Given the description of an element on the screen output the (x, y) to click on. 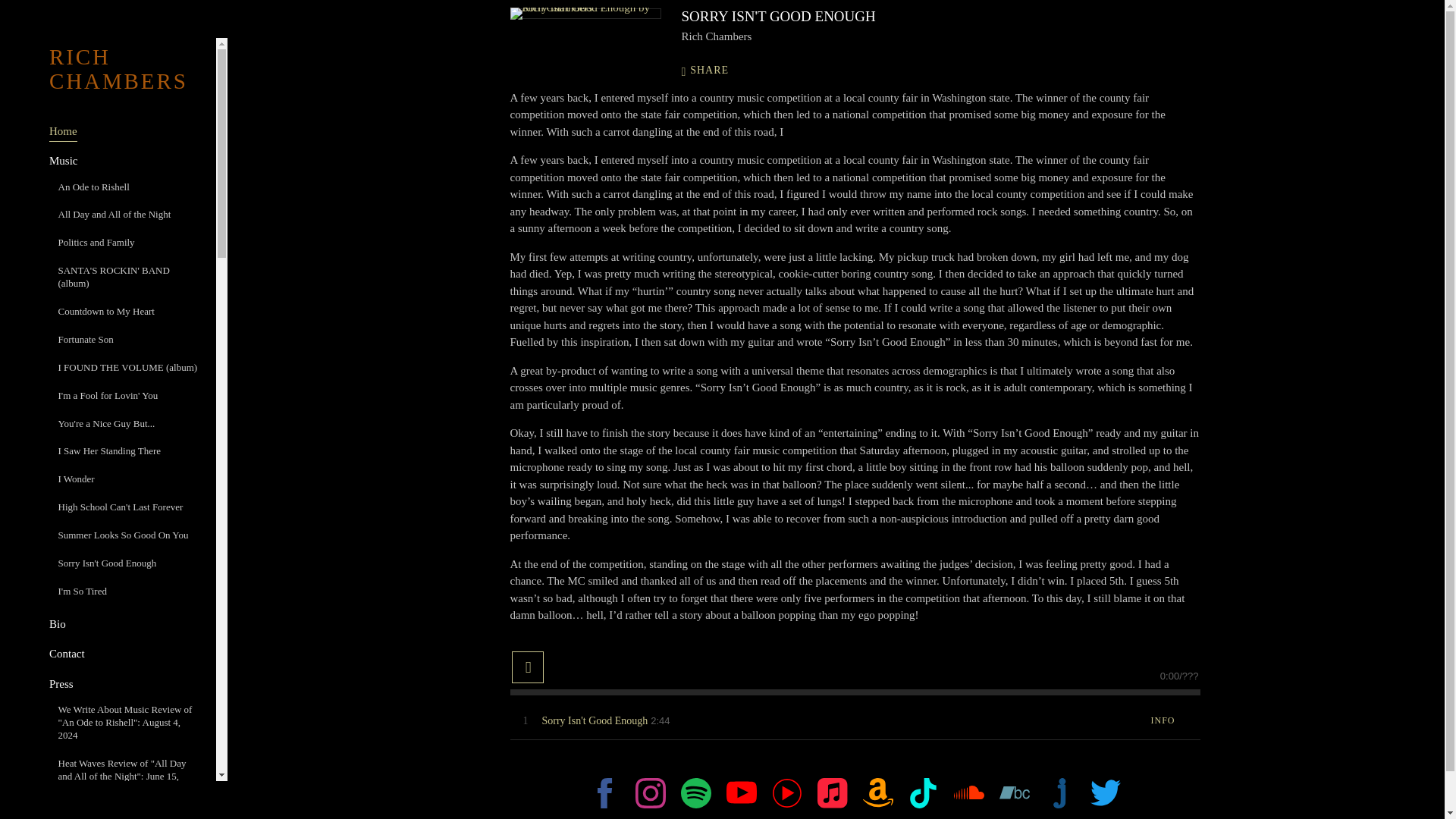
Sorry Isn't Good Enough (594, 720)
Sorry Isn't Good Enough (585, 13)
Share Sorry Isn't Good Enough (712, 70)
